Given the description of an element on the screen output the (x, y) to click on. 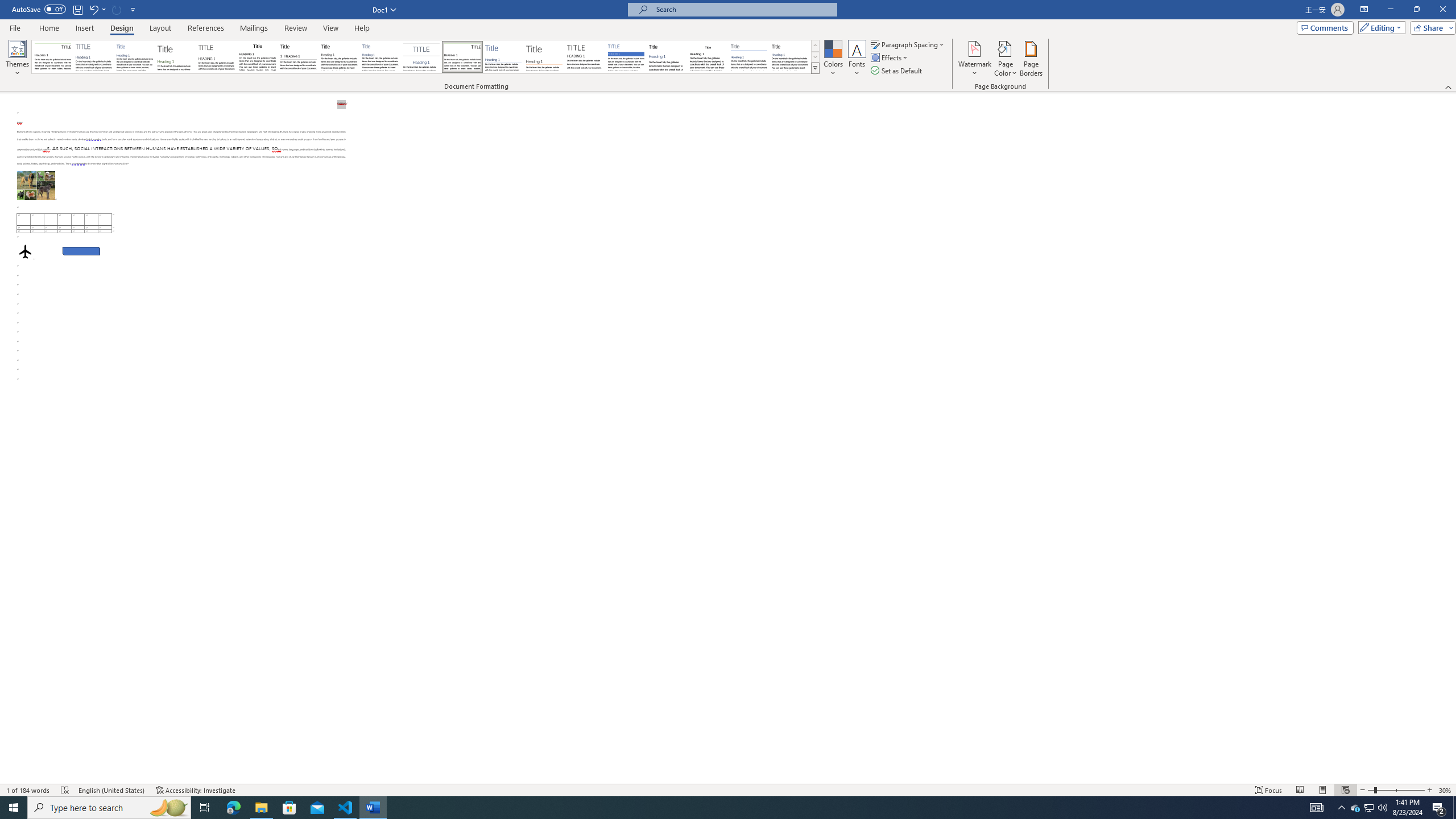
Airplane with solid fill (25, 251)
Black & White (Numbered) (298, 56)
Undo Apply Quick Style Set (92, 9)
Black & White (Classic) (257, 56)
Style Set (814, 67)
